Given the description of an element on the screen output the (x, y) to click on. 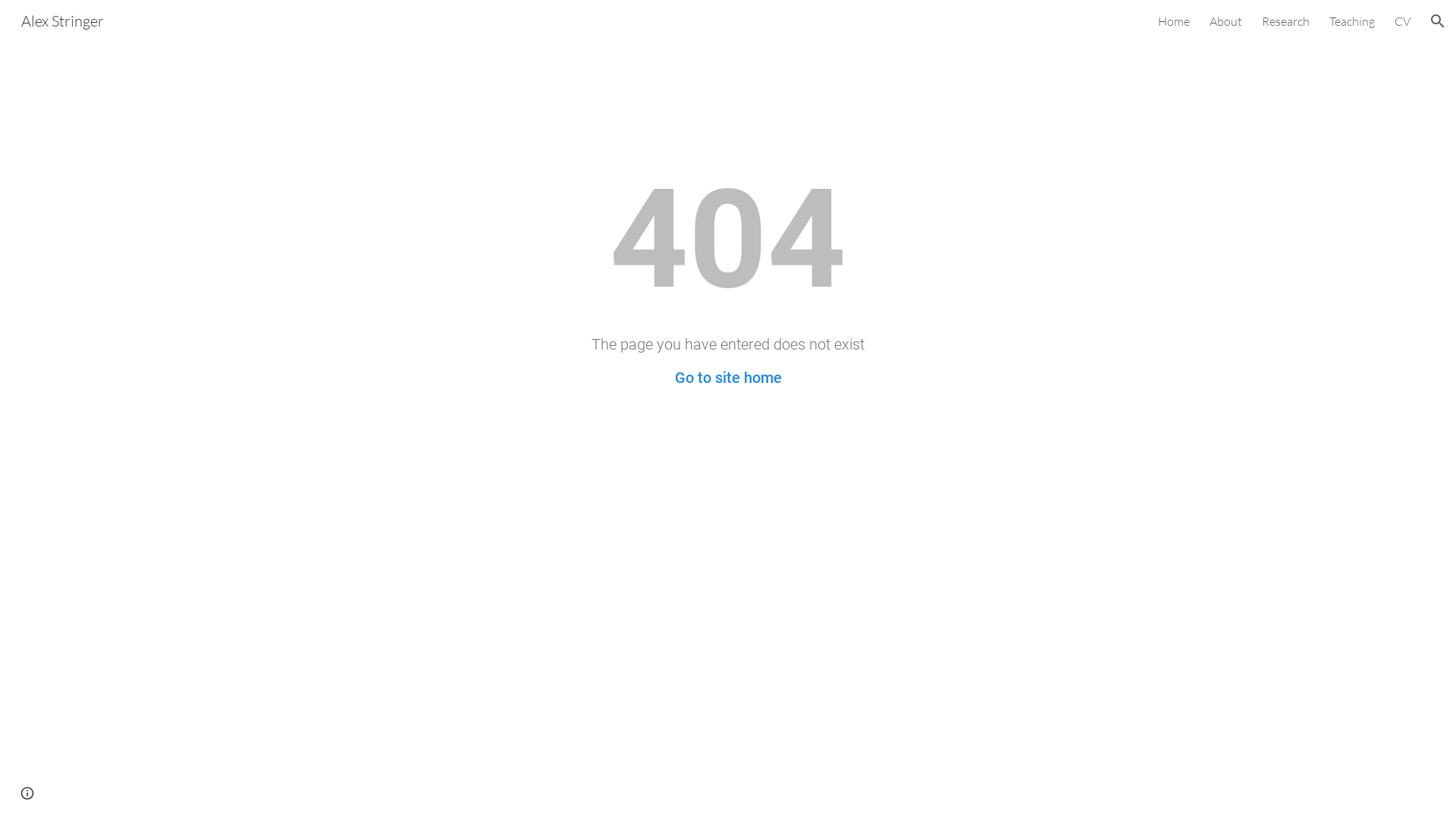
Research Element type: text (1285, 20)
Alex Stringer Element type: text (62, 18)
About Element type: text (1225, 20)
Teaching Element type: text (1351, 20)
Home Element type: text (1173, 20)
CV Element type: text (1402, 20)
Go to site home Element type: text (727, 377)
